Given the description of an element on the screen output the (x, y) to click on. 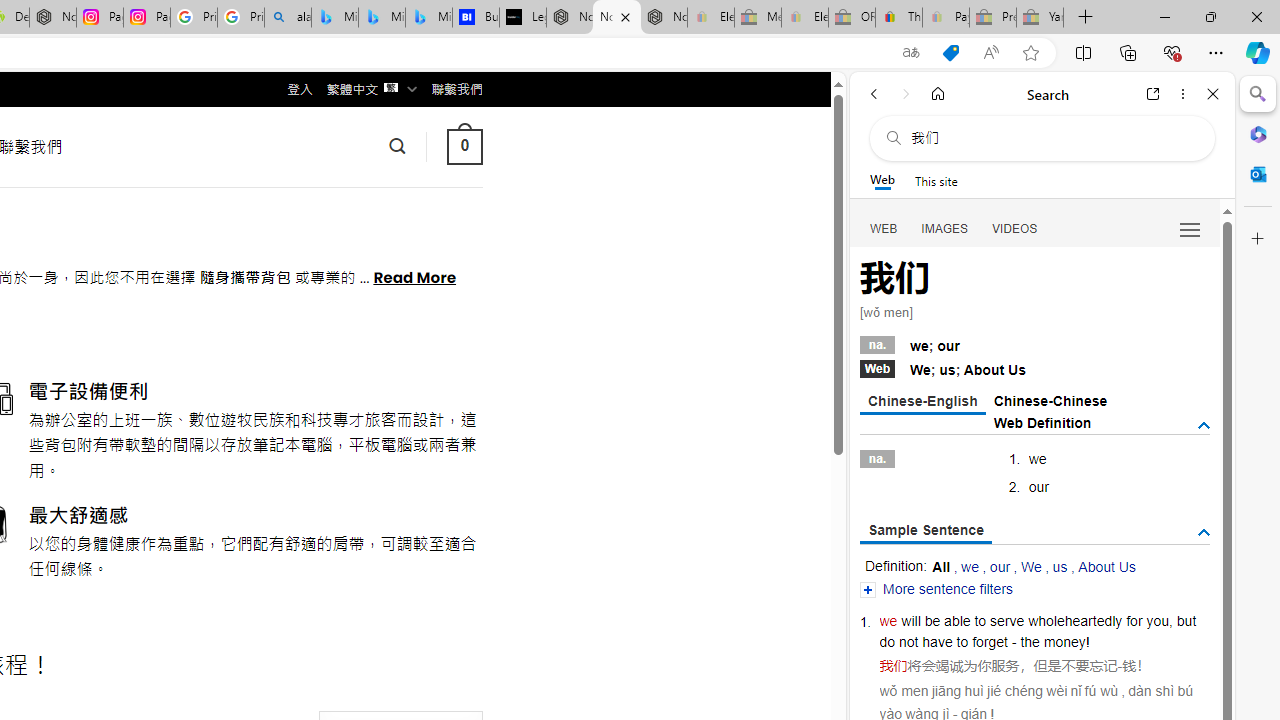
  0   (464, 146)
be (932, 620)
Chinese-Chinese (1050, 400)
VIDEOS (1015, 228)
This site has coupons! Shopping in Microsoft Edge (950, 53)
Preferences (1189, 228)
